Given the description of an element on the screen output the (x, y) to click on. 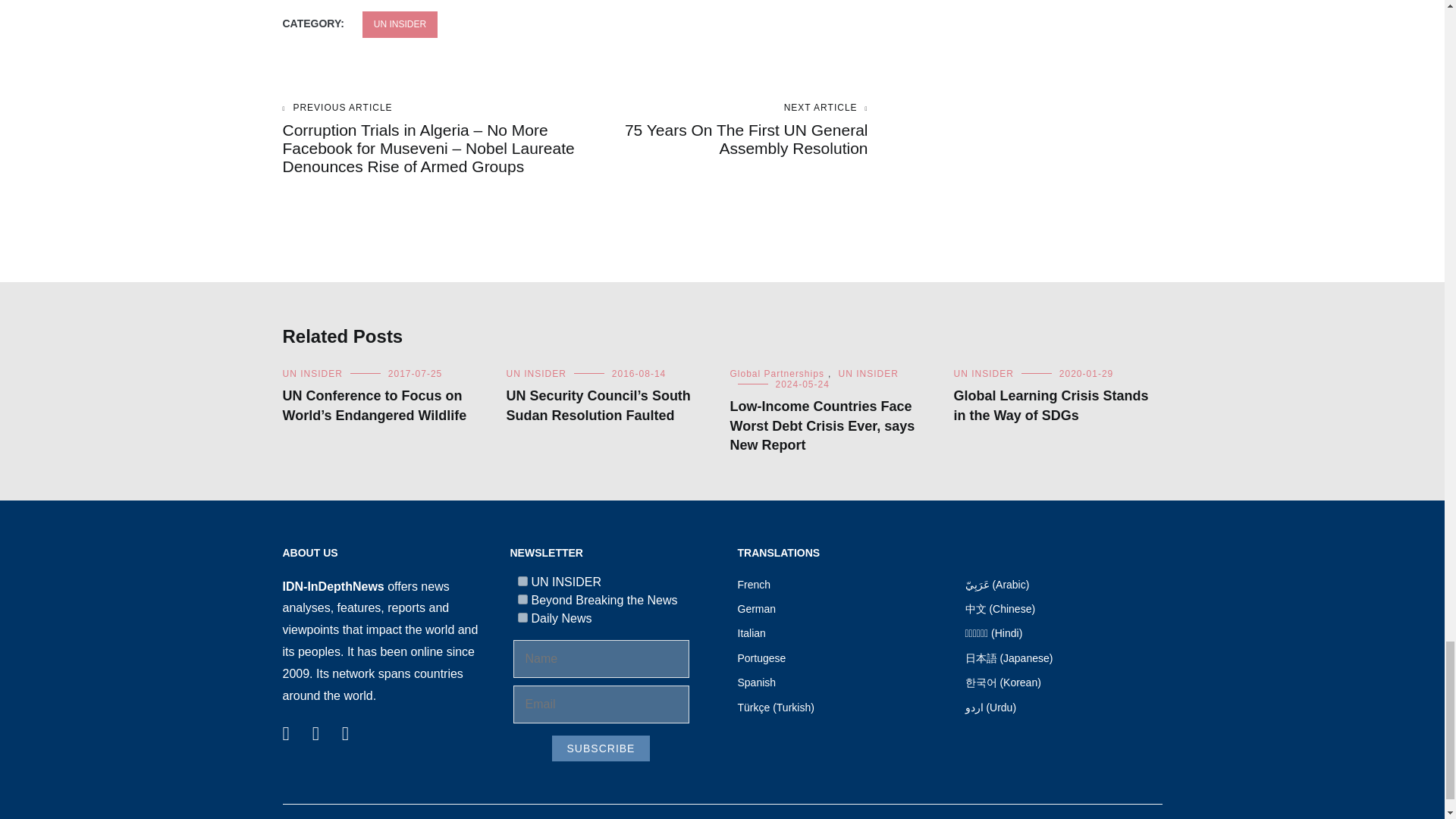
7 (521, 581)
9 (521, 599)
10 (521, 617)
